Given the description of an element on the screen output the (x, y) to click on. 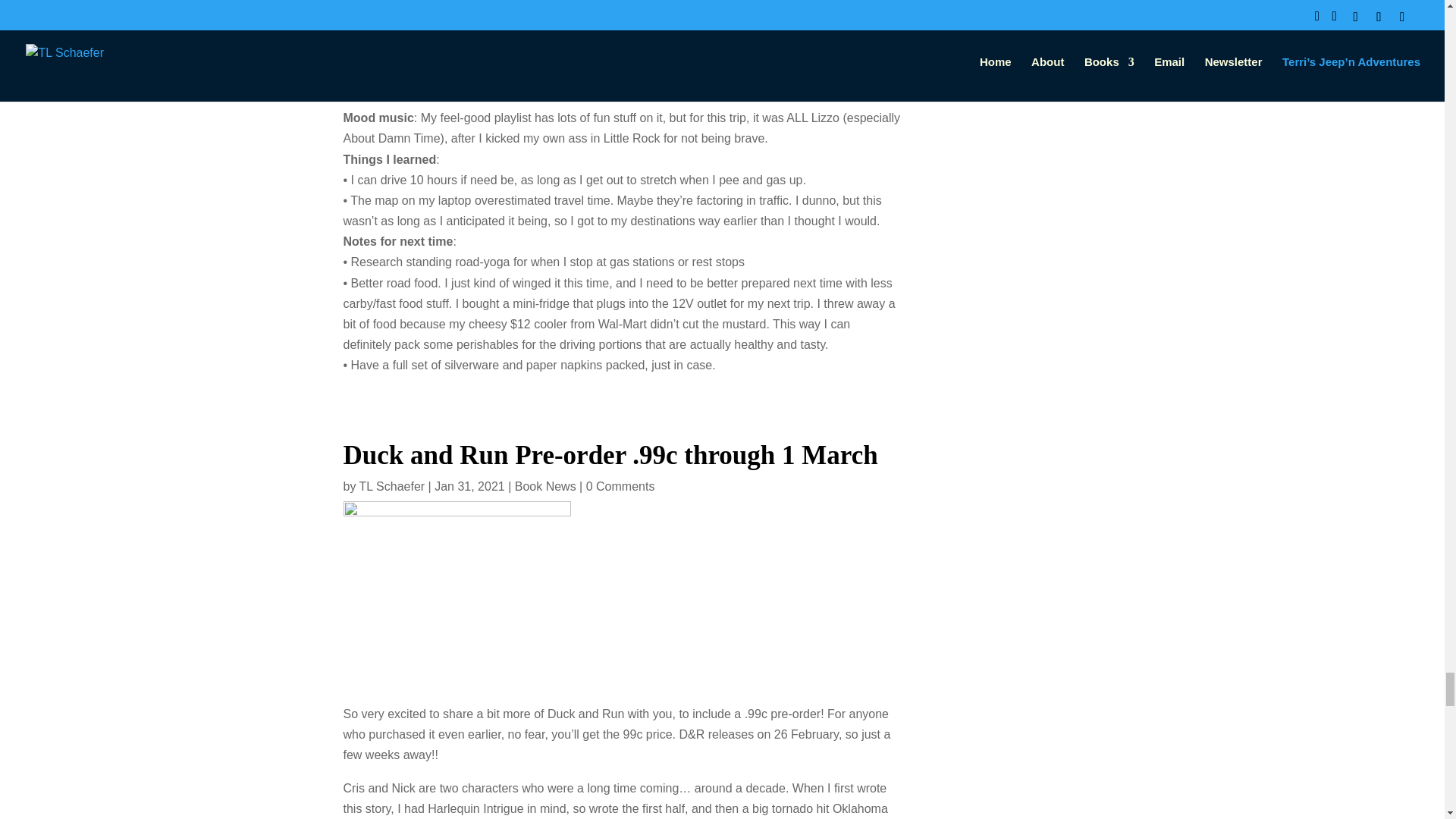
Posts by TL Schaefer (392, 486)
